Given the description of an element on the screen output the (x, y) to click on. 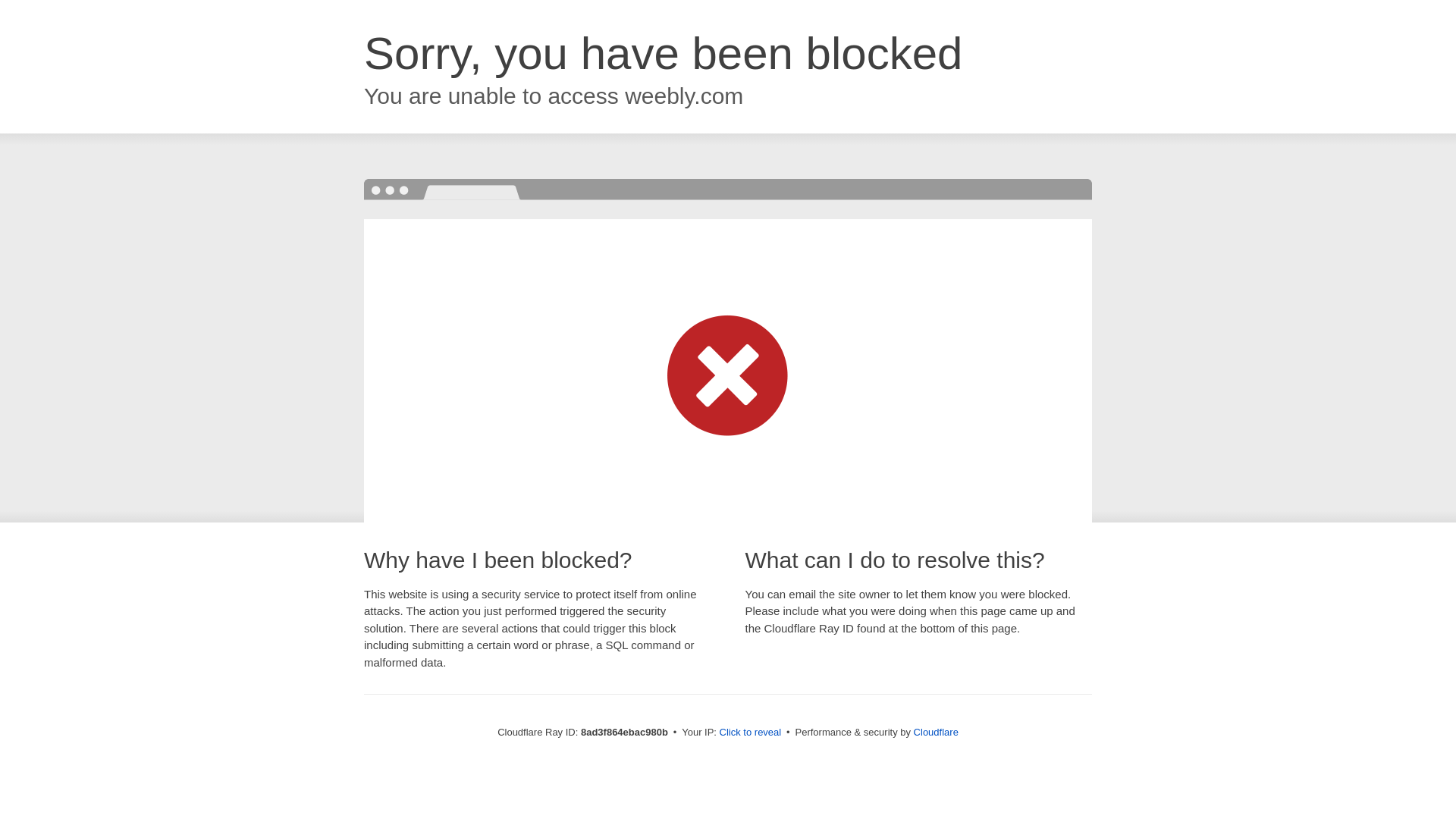
Cloudflare (936, 731)
Click to reveal (750, 732)
